Given the description of an element on the screen output the (x, y) to click on. 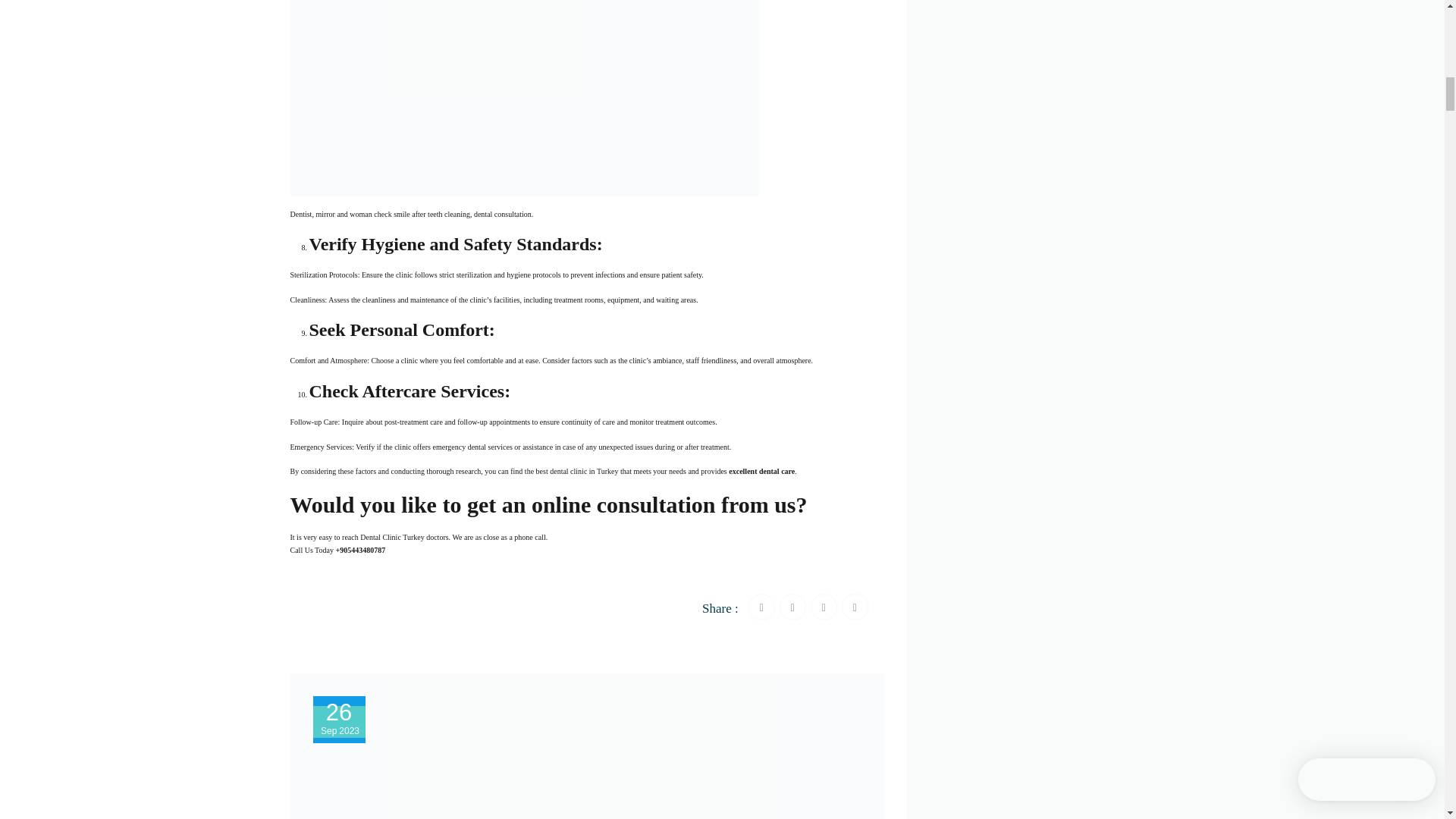
dental clinic in Turkey (583, 470)
